Given the description of an element on the screen output the (x, y) to click on. 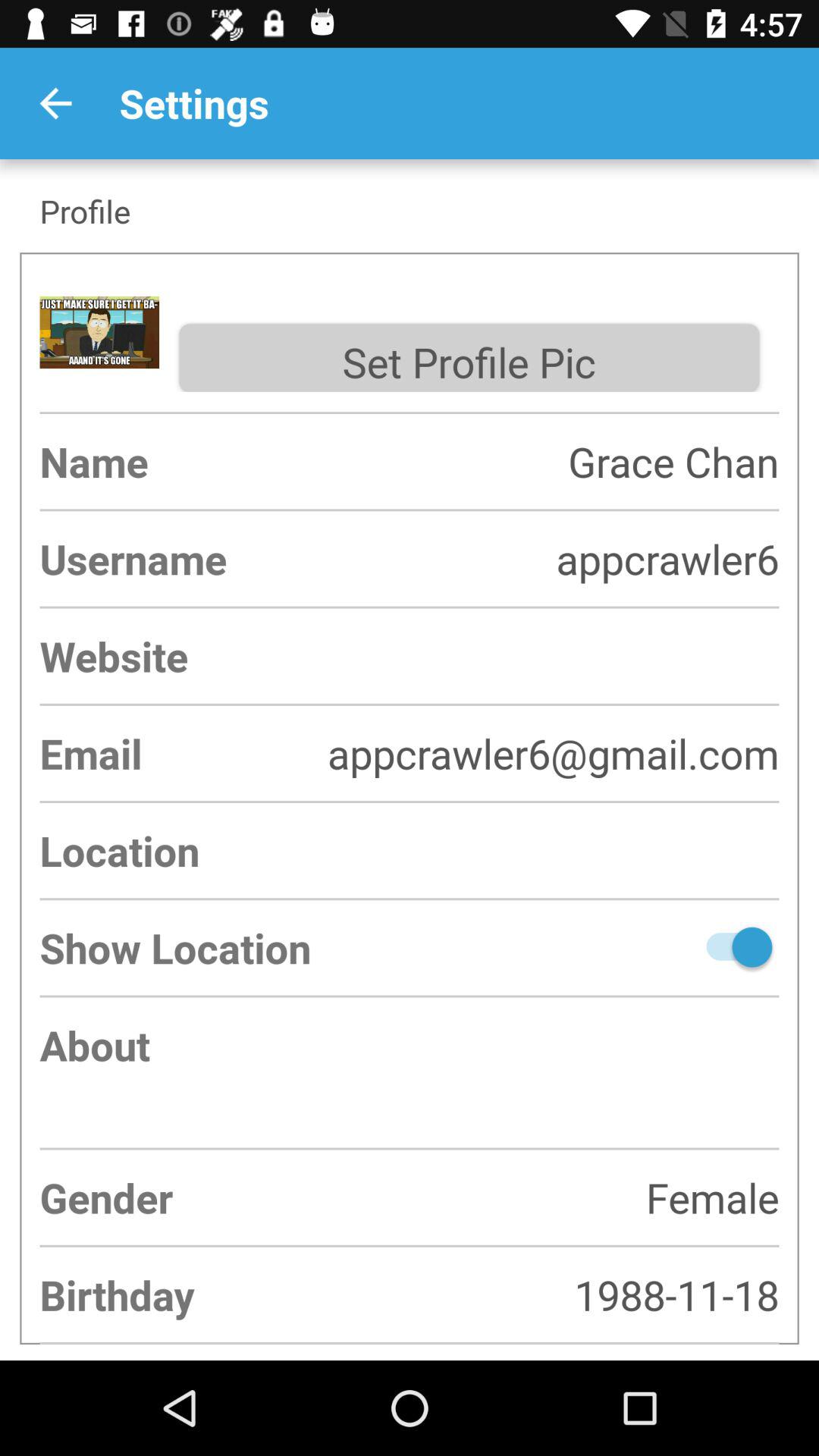
swipe until the set profile pic icon (469, 357)
